Given the description of an element on the screen output the (x, y) to click on. 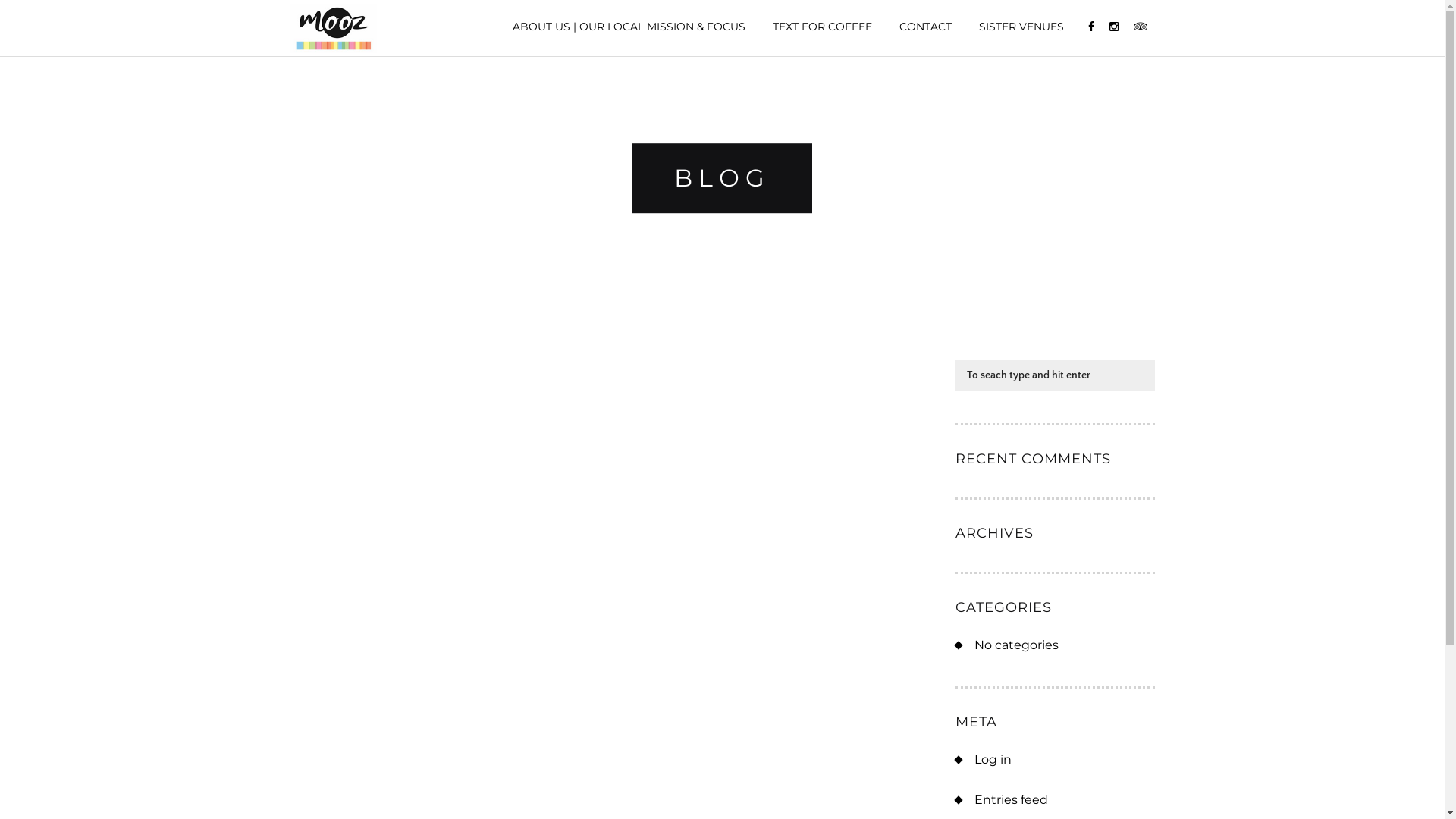
SISTER VENUES Element type: text (1020, 26)
Entries feed Element type: text (1011, 799)
TEXT FOR COFFEE Element type: text (821, 26)
Mooz Gelato Cairns Element type: hover (332, 28)
ABOUT US | OUR LOCAL MISSION & FOCUS Element type: text (628, 26)
CONTACT Element type: text (925, 26)
Log in Element type: text (992, 759)
